Given the description of an element on the screen output the (x, y) to click on. 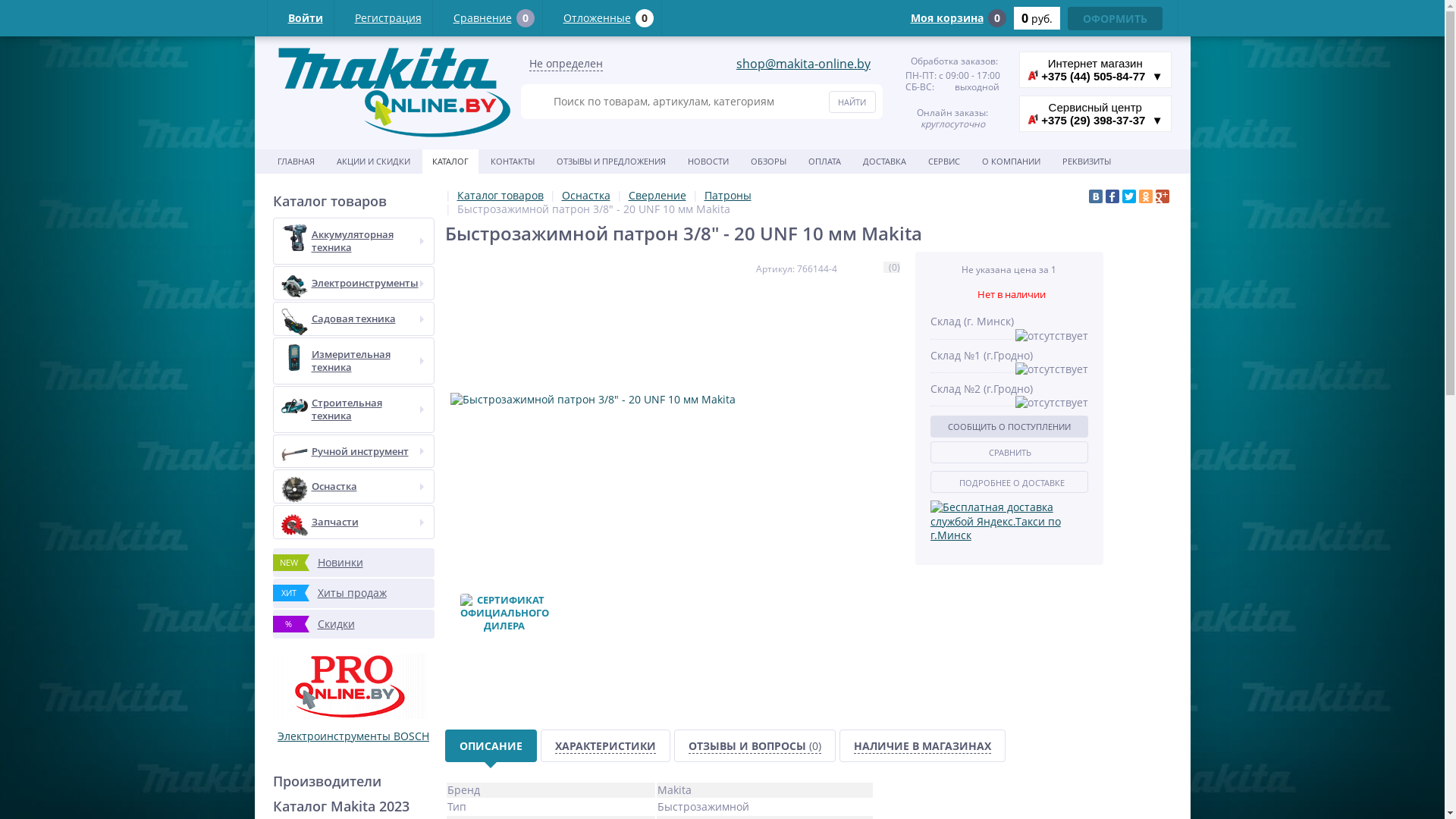
shop@makita-online.by Element type: text (803, 63)
Facebook Element type: hover (1112, 196)
Twitter Element type: hover (1128, 196)
Google Plus Element type: hover (1162, 196)
a1.jpg Element type: hover (1032, 74)
a1.jpg Element type: hover (1032, 118)
